Given the description of an element on the screen output the (x, y) to click on. 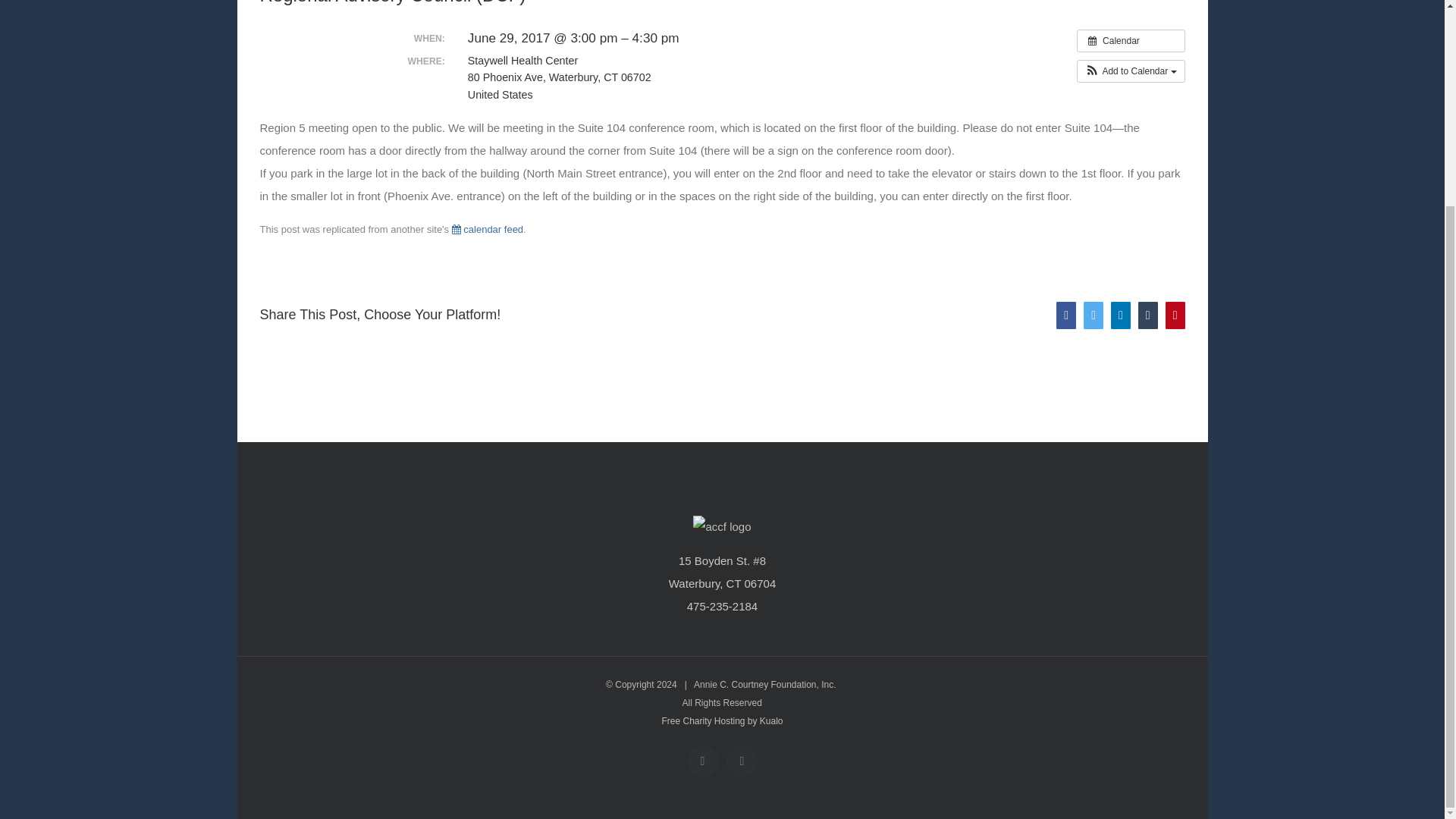
Free Charity Hosting (722, 720)
iCalendar feed (486, 229)
Calendar (1131, 40)
View all events (1131, 40)
